Given the description of an element on the screen output the (x, y) to click on. 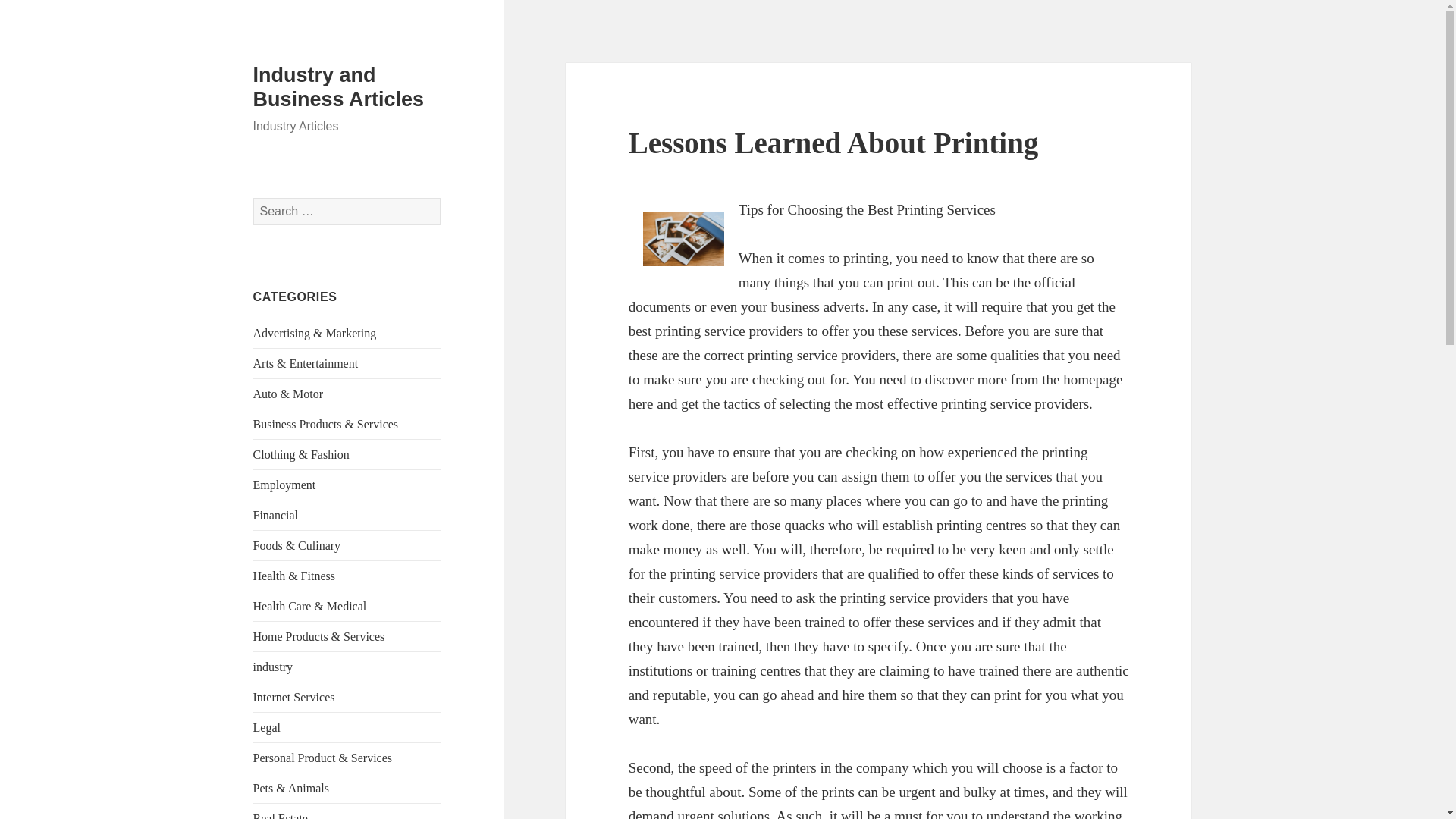
Legal (267, 727)
Internet Services (293, 697)
Employment (284, 484)
Real Estate (280, 815)
Industry and Business Articles (339, 86)
industry (272, 666)
Financial (275, 514)
